Given the description of an element on the screen output the (x, y) to click on. 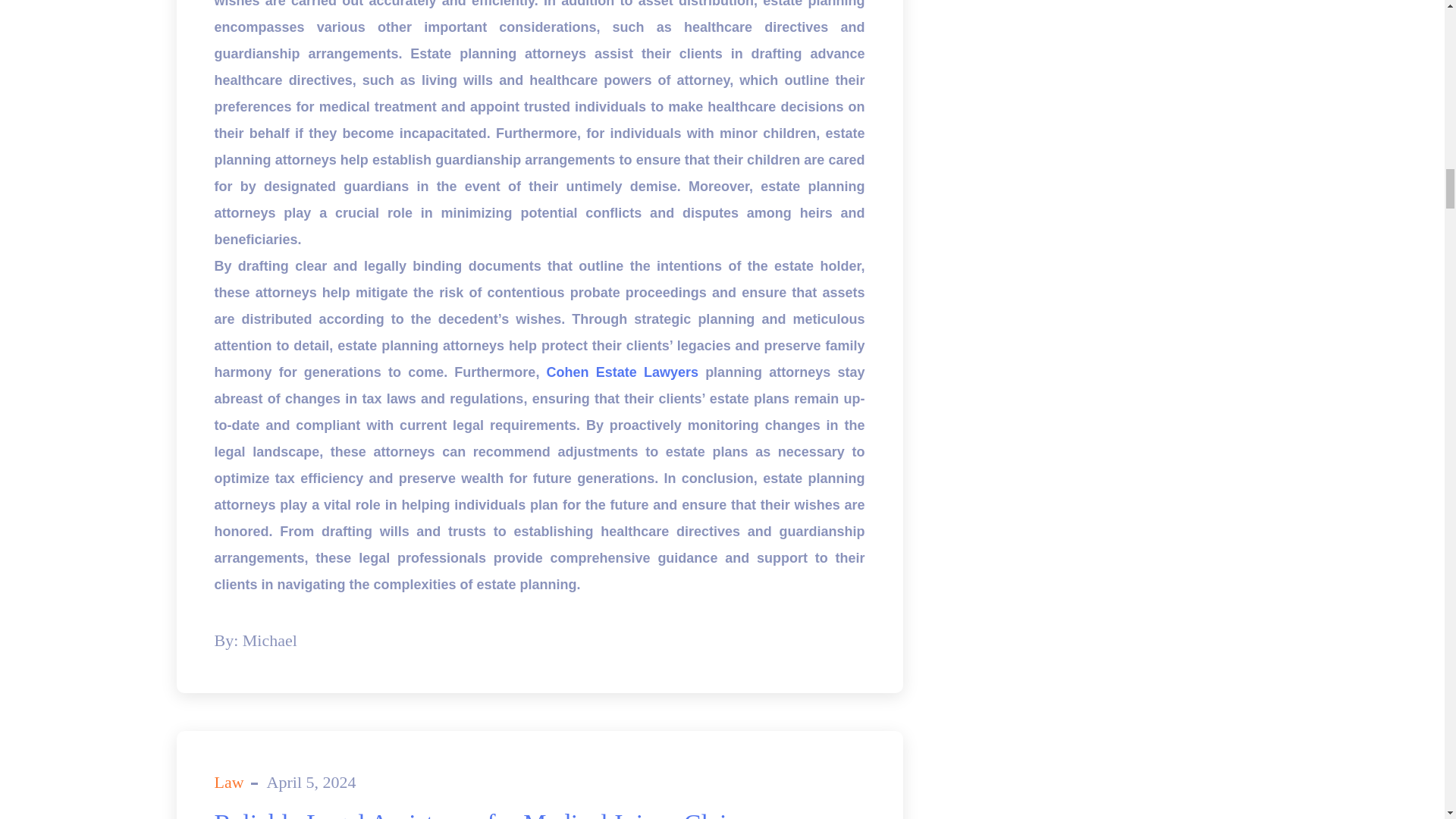
April 5, 2024 (311, 782)
Michael (270, 640)
Reliable Legal Assistance for Medical Injury Claims (485, 814)
Cohen Estate Lawyers (622, 372)
Law (228, 782)
